Given the description of an element on the screen output the (x, y) to click on. 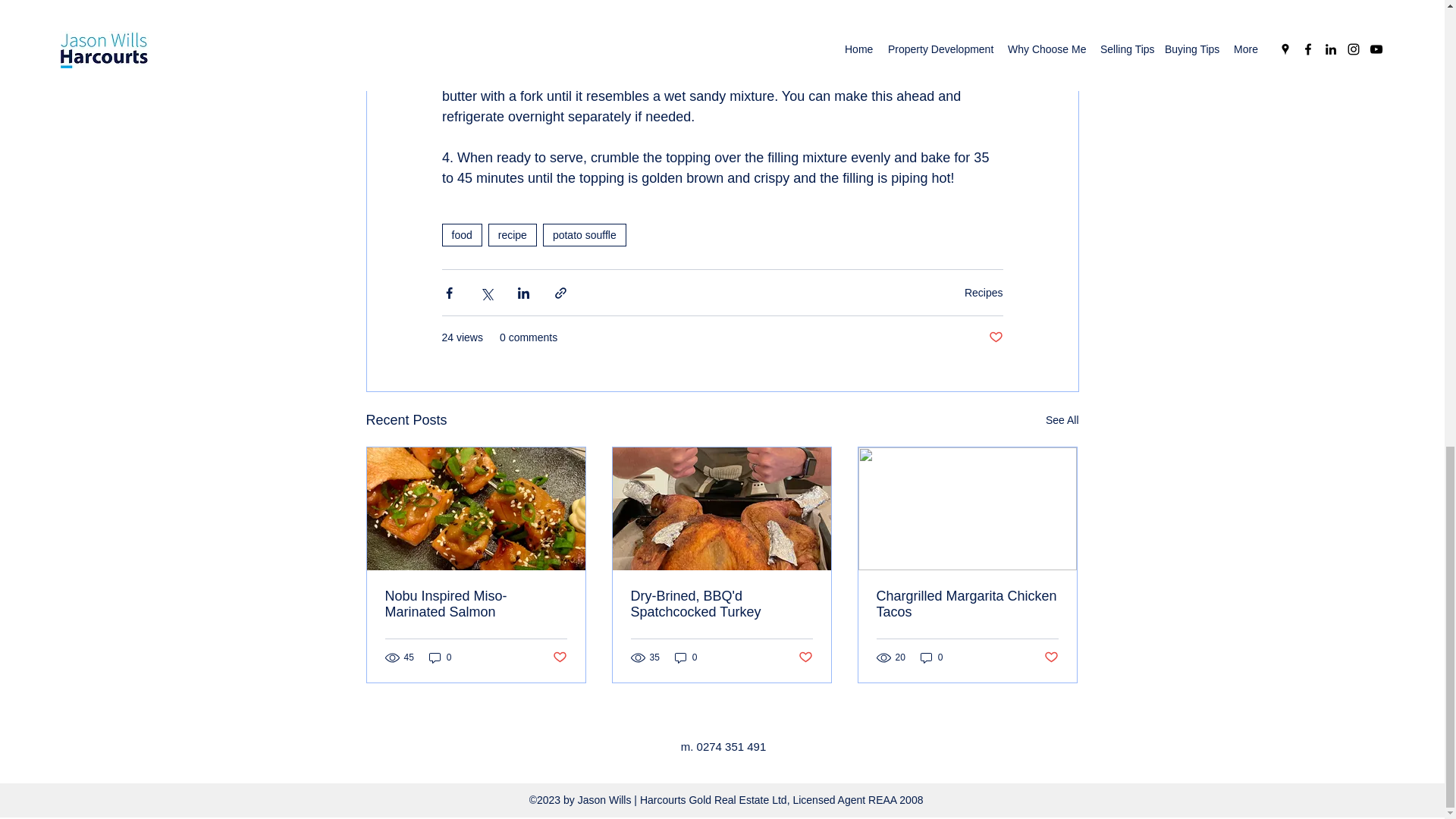
potato souffle (584, 234)
0 (440, 657)
recipe (512, 234)
Dry-Brined, BBQ'd Spatchcocked Turkey (721, 603)
Post not marked as liked (995, 337)
Nobu Inspired Miso-Marinated Salmon (476, 603)
See All (1061, 420)
Recipes (983, 292)
Post not marked as liked (558, 657)
food (461, 234)
